Given the description of an element on the screen output the (x, y) to click on. 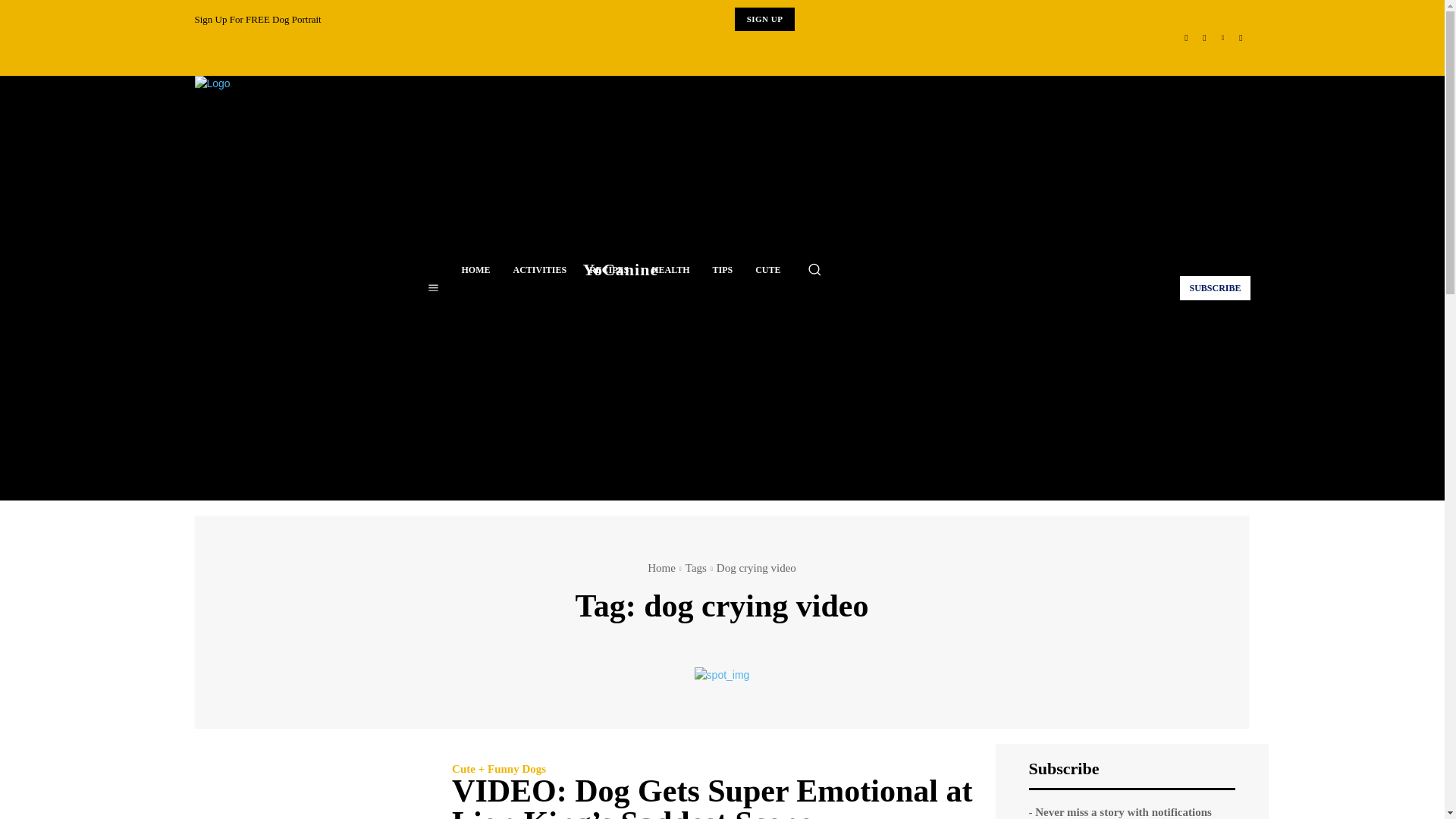
Instagram (1203, 37)
TIPS (722, 269)
ACTIVITIES (540, 269)
Pinterest (1221, 37)
Subscribe (1214, 287)
HEALTH (670, 269)
SIGN UP (764, 19)
HOME (475, 269)
Sign Up (764, 19)
CUTE (768, 269)
